Given the description of an element on the screen output the (x, y) to click on. 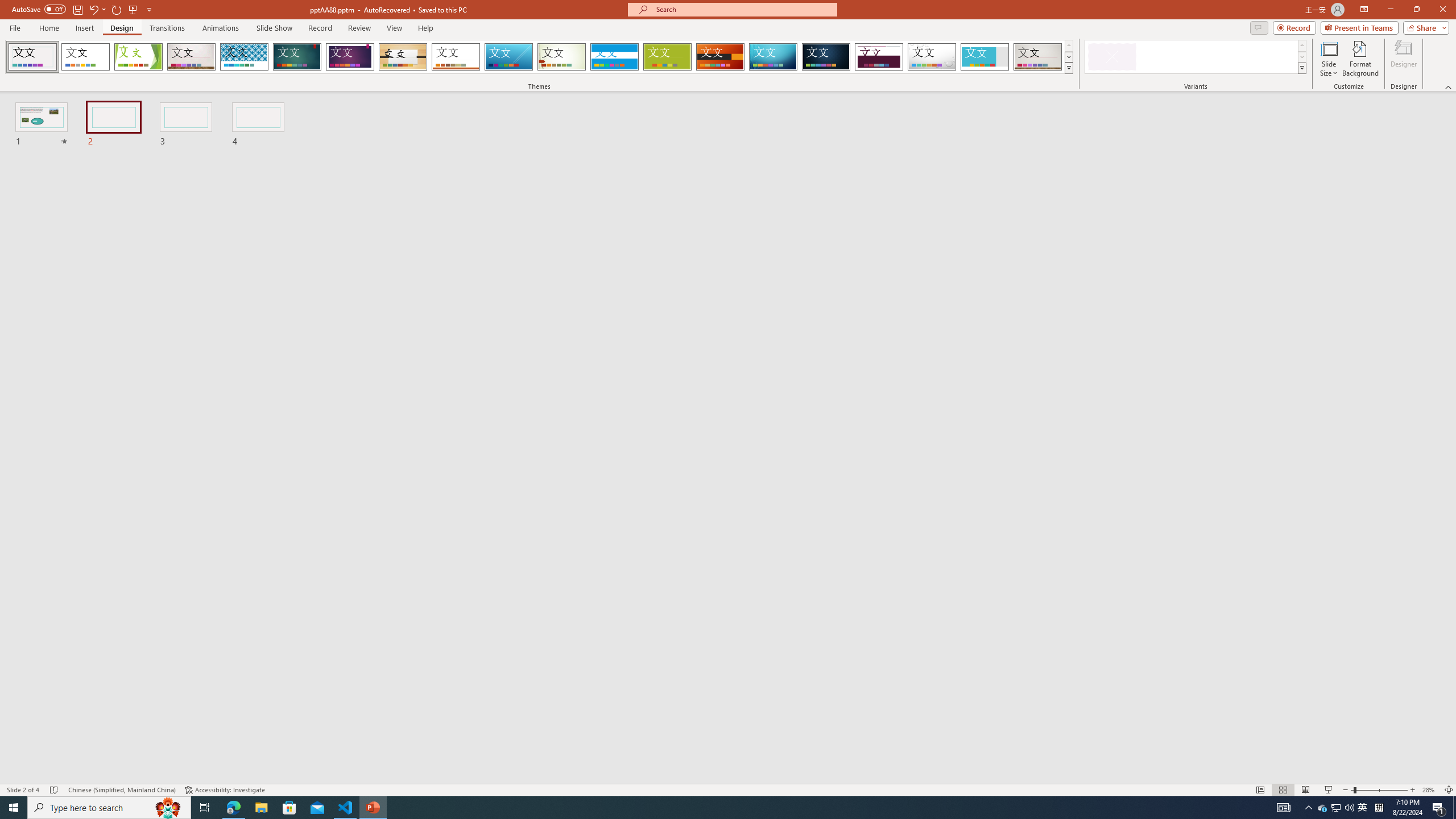
AutomationID: SlideThemesGallery (539, 56)
Zoom 28% (1430, 790)
Dividend Loading Preview... (879, 56)
Droplet Loading Preview... (931, 56)
